Given the description of an element on the screen output the (x, y) to click on. 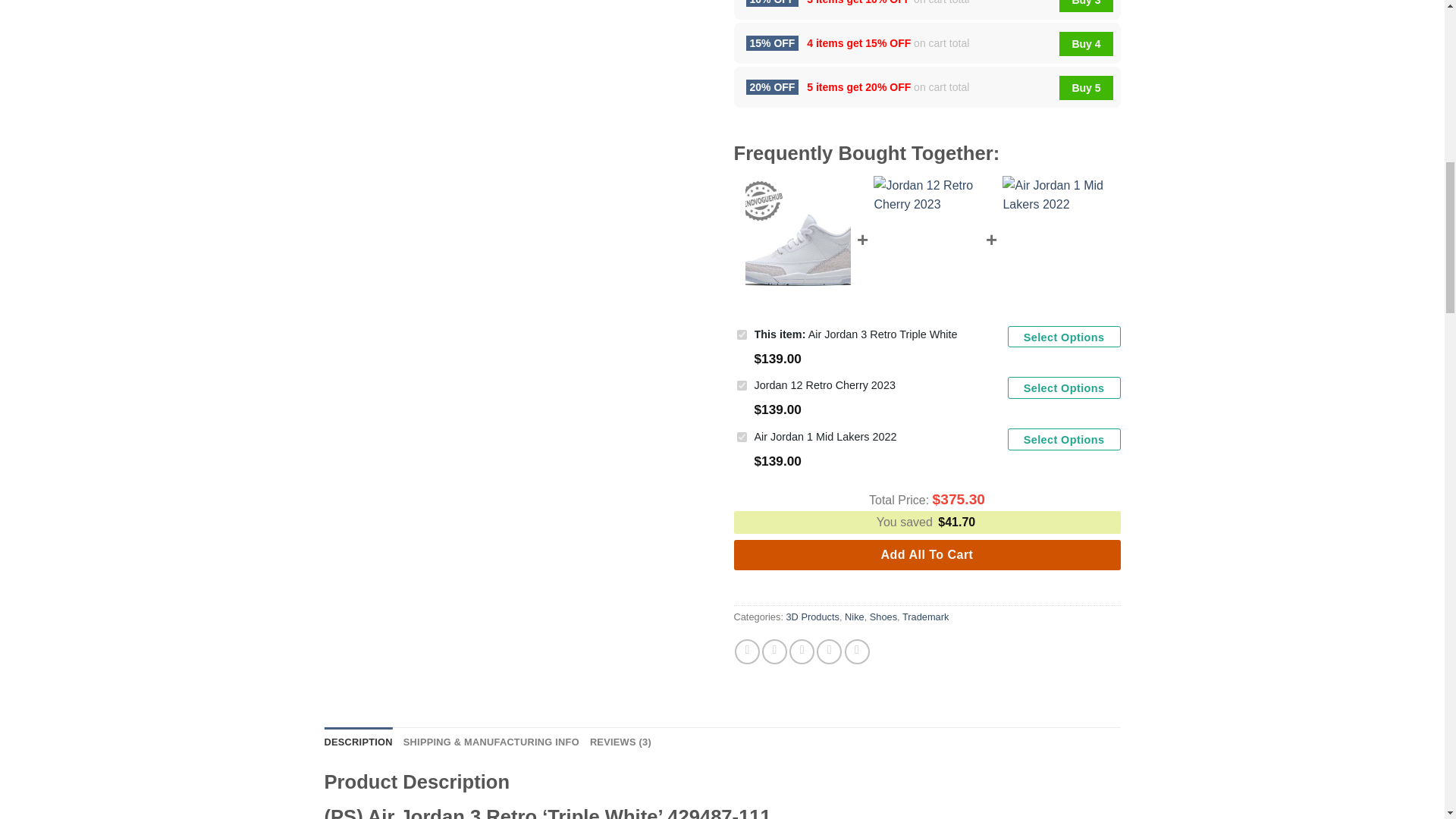
20390 (741, 334)
7133 (741, 437)
6954 (741, 385)
